Given the description of an element on the screen output the (x, y) to click on. 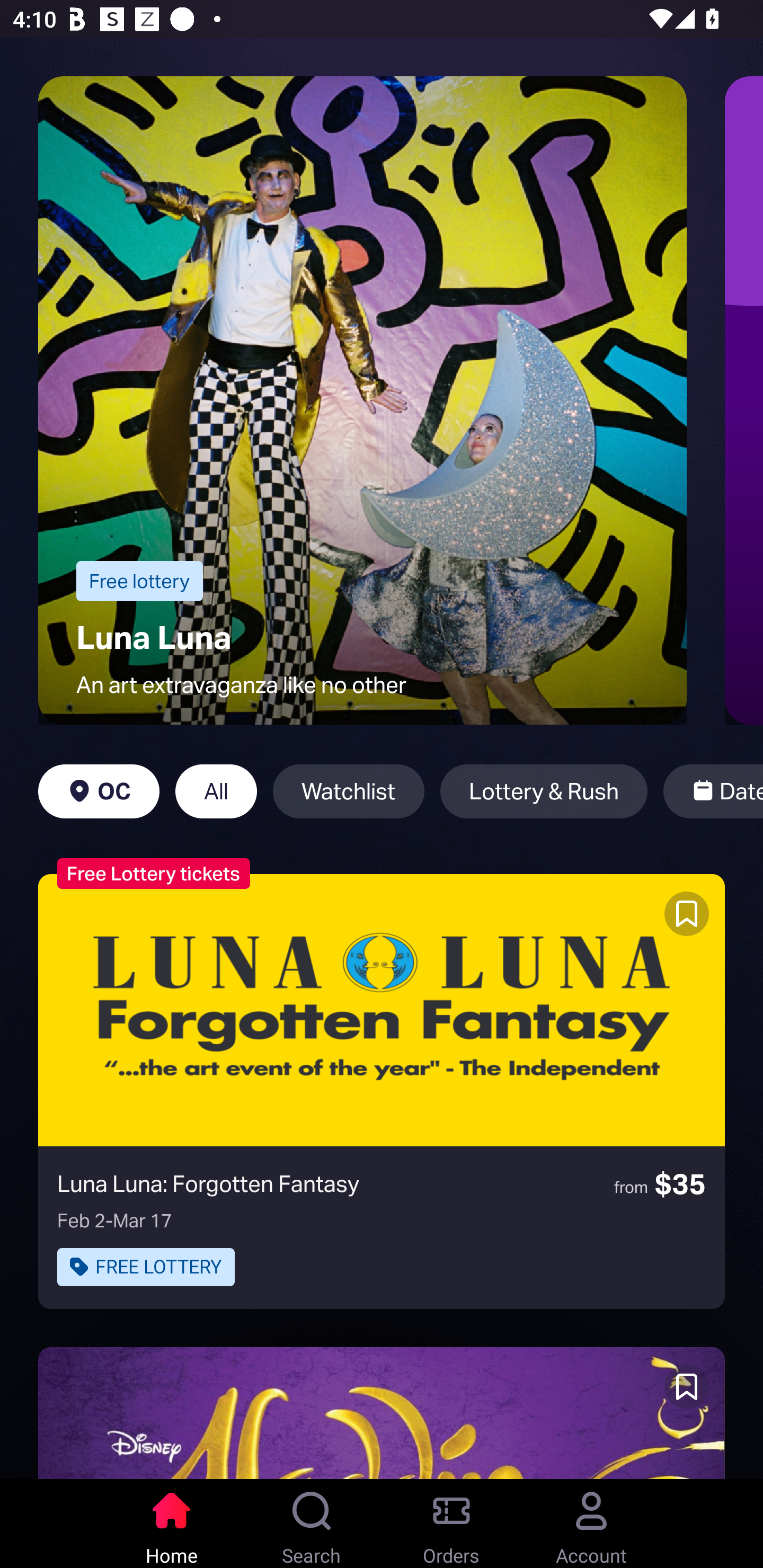
OC (98, 791)
All (216, 791)
Watchlist (348, 791)
Lottery & Rush (543, 791)
Search (311, 1523)
Orders (451, 1523)
Account (591, 1523)
